Given the description of an element on the screen output the (x, y) to click on. 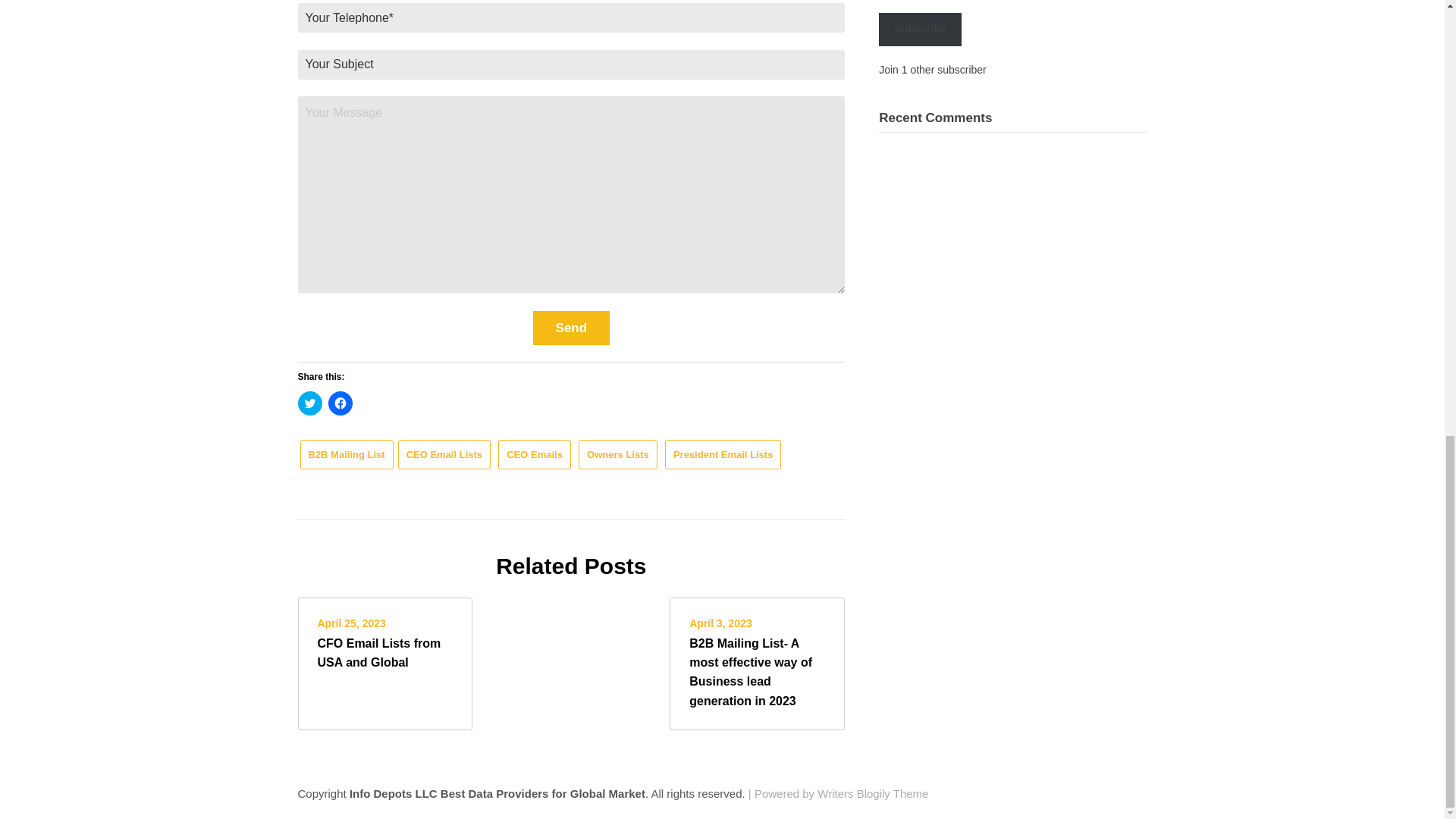
B2B Mailing List (346, 454)
CEO Emails (533, 454)
Subscribe (919, 29)
CEO Email Lists (443, 454)
President Email Lists (723, 454)
CFO Email Lists from USA and Global (379, 653)
Send (571, 327)
Info Depots LLC Best Data Providers for Global Market (497, 793)
Writers Blogily Theme (872, 793)
